Given the description of an element on the screen output the (x, y) to click on. 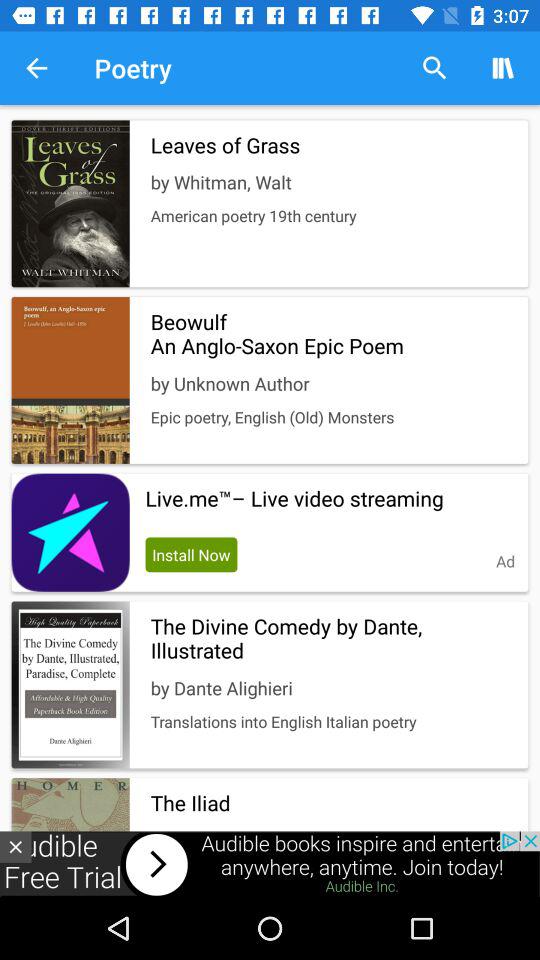
advertisement (15, 846)
